Given the description of an element on the screen output the (x, y) to click on. 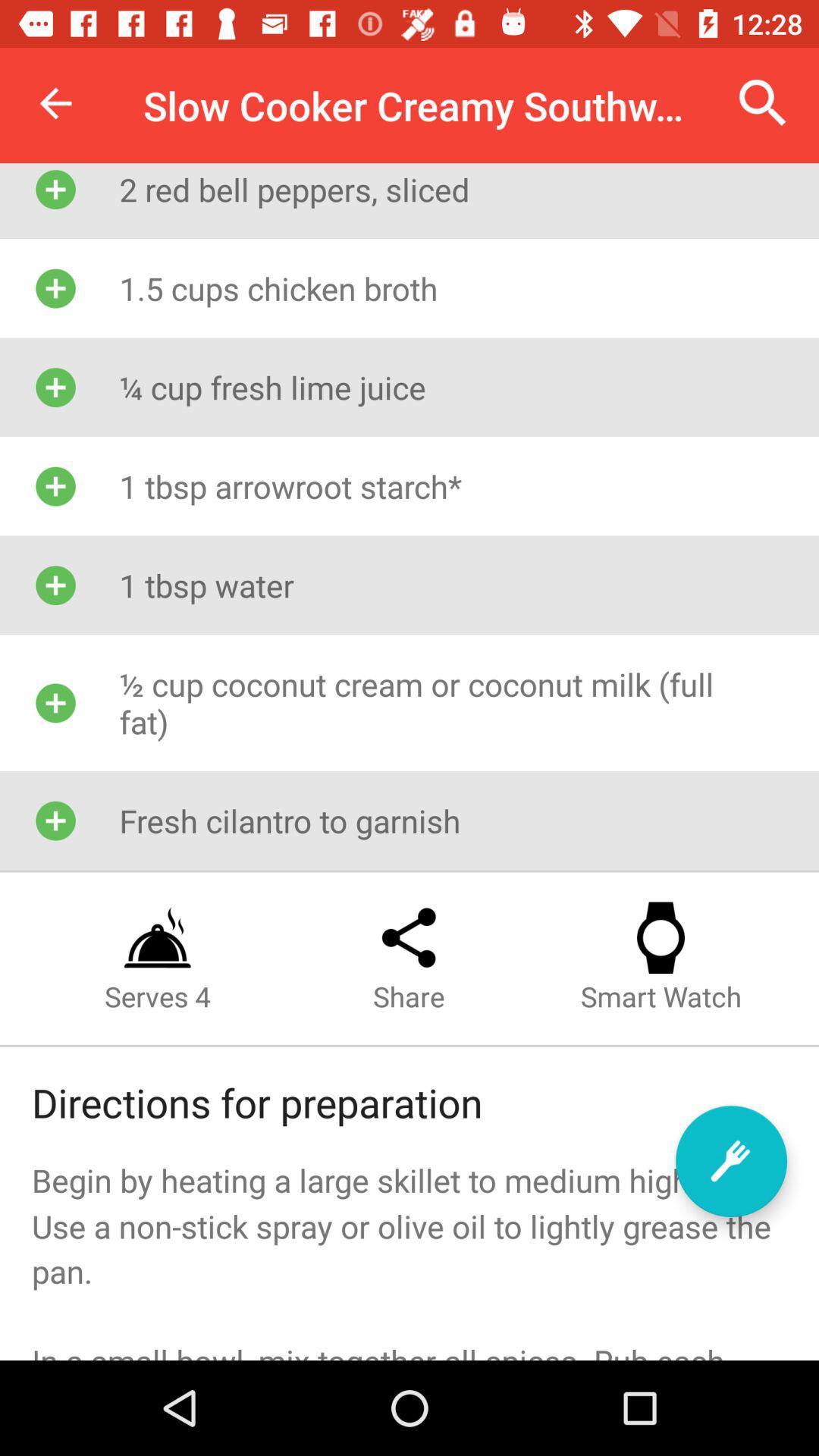
start recipe tutorial (731, 1161)
